Given the description of an element on the screen output the (x, y) to click on. 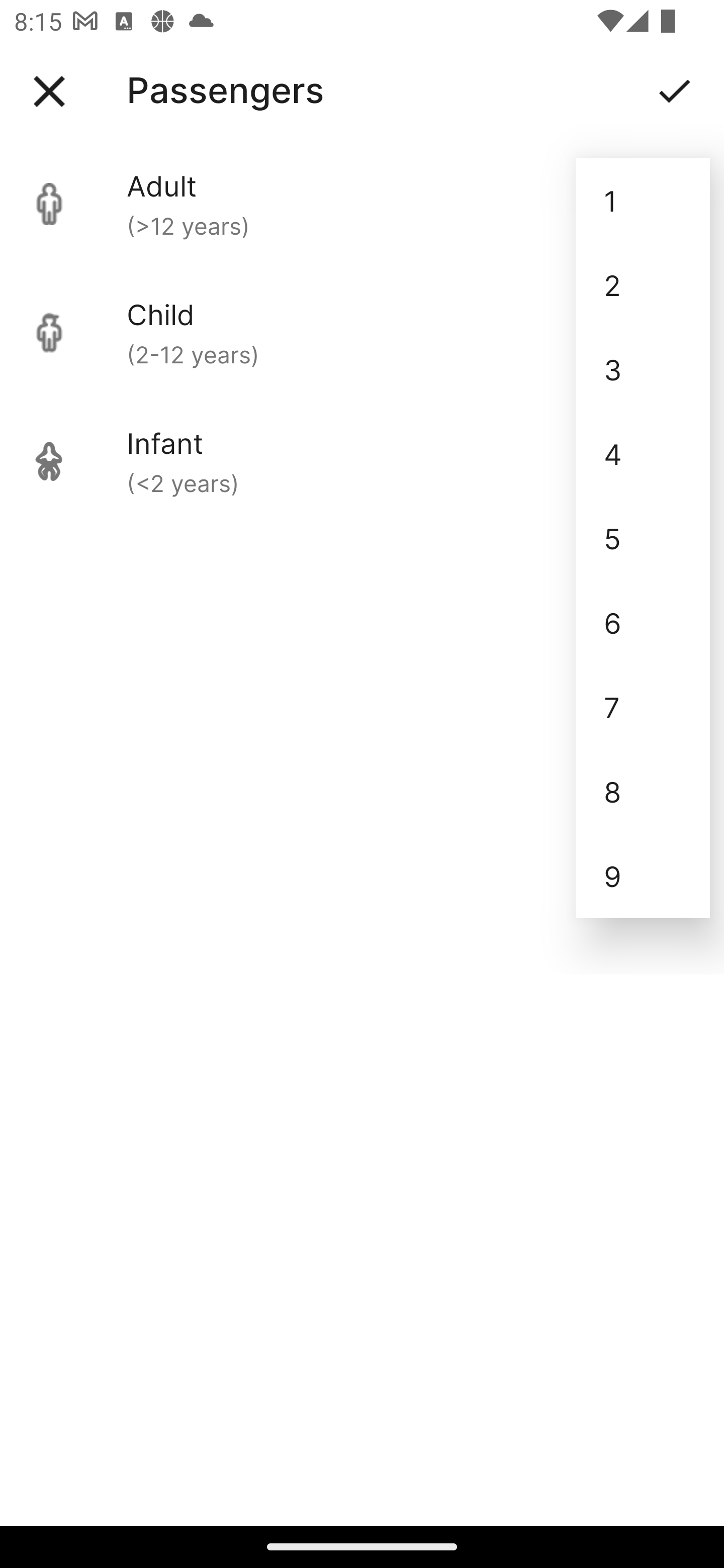
1 (642, 200)
2 (642, 285)
3 (642, 368)
4 (642, 452)
5 (642, 537)
6 (642, 622)
7 (642, 706)
8 (642, 791)
9 (642, 876)
